Given the description of an element on the screen output the (x, y) to click on. 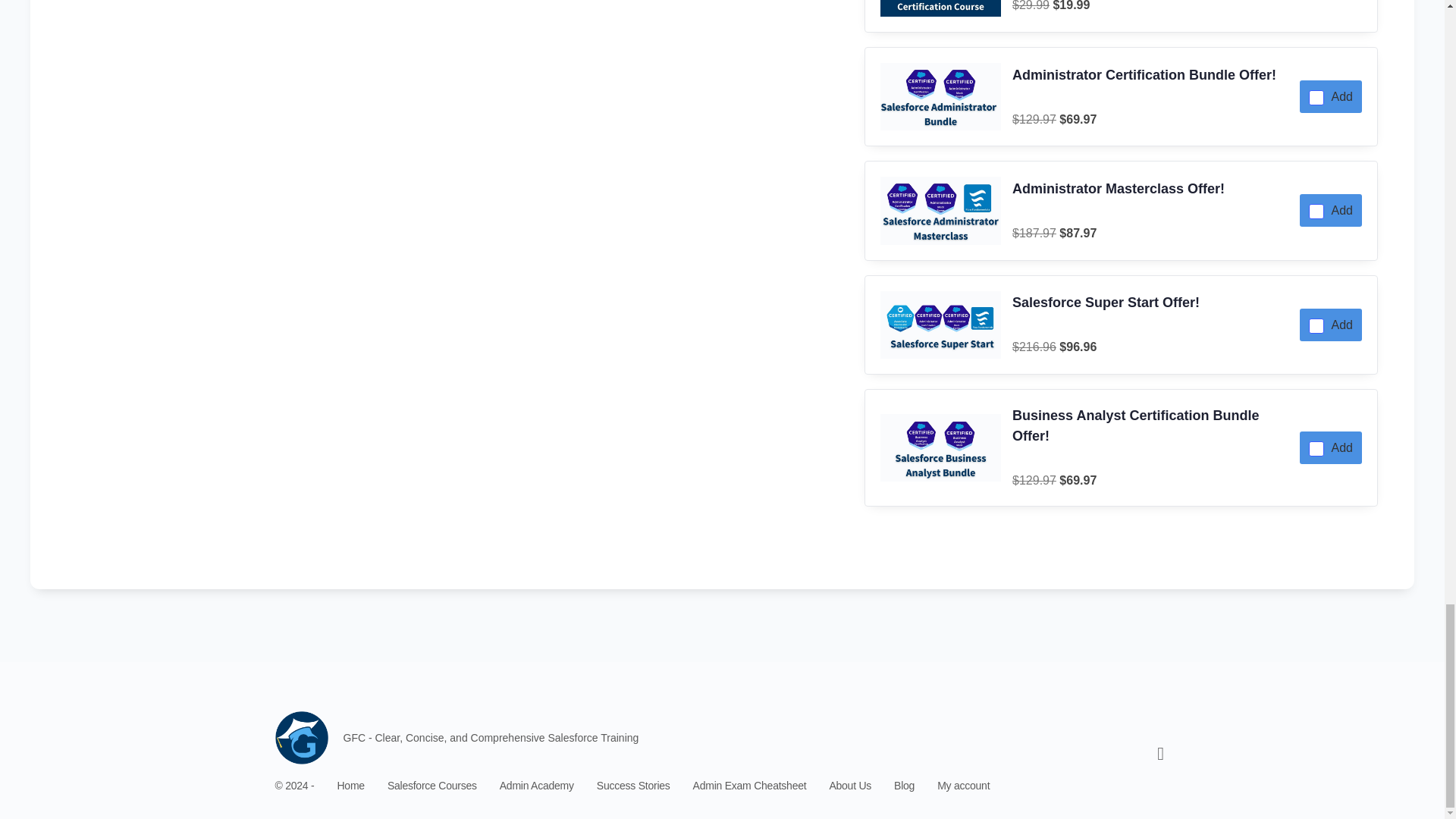
cropped-BBThemeFavicon.png - Get Force Certified (301, 737)
